Given the description of an element on the screen output the (x, y) to click on. 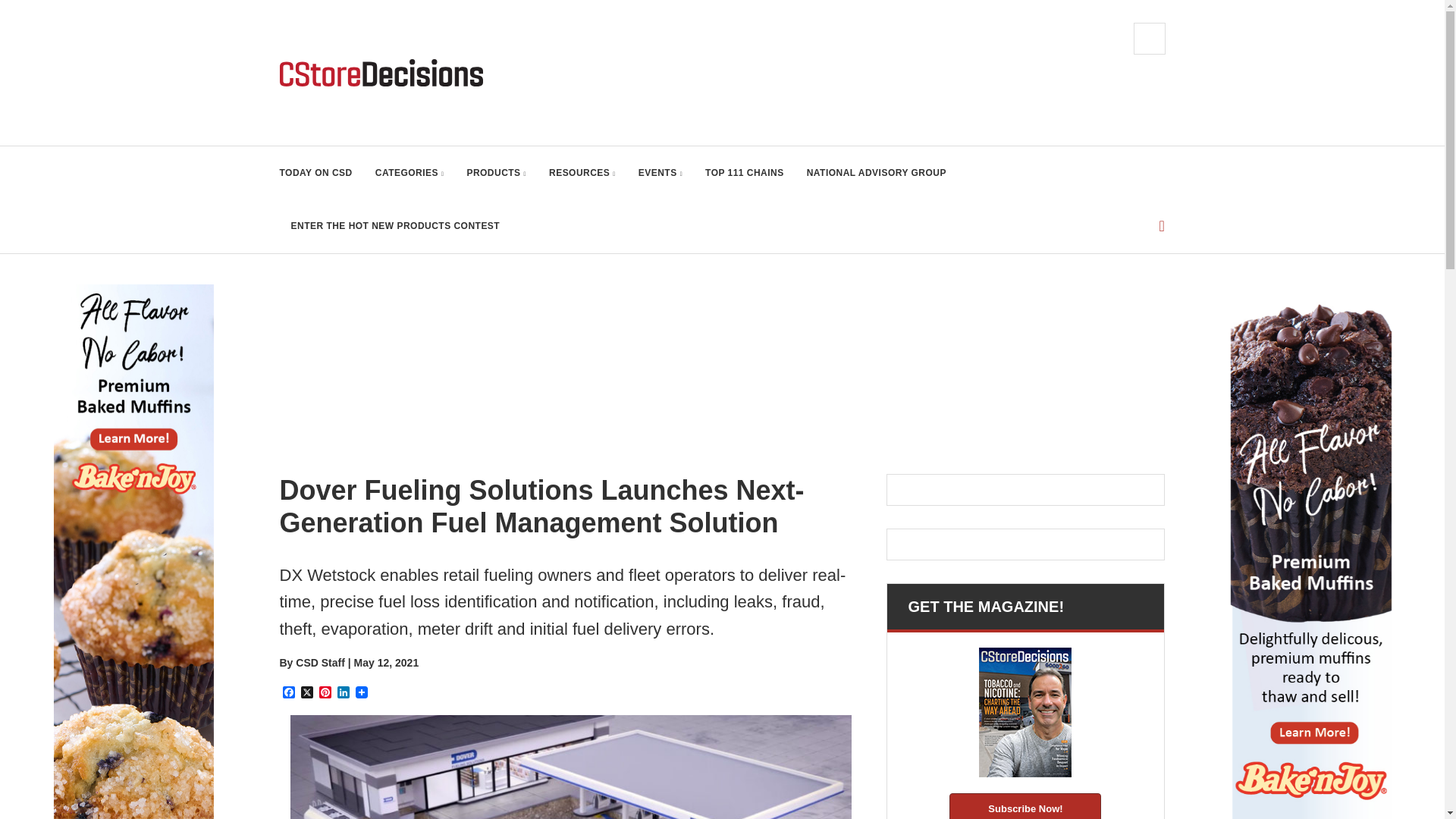
Facebook (288, 693)
PRODUCTS (495, 172)
CATEGORIES (409, 172)
TODAY ON CSD (315, 172)
EVENTS (660, 172)
Pinterest (324, 693)
X (306, 693)
RESOURCES (581, 172)
LinkedIn (342, 693)
TOP 111 CHAINS (744, 172)
CStore Decisions (380, 72)
